Given the description of an element on the screen output the (x, y) to click on. 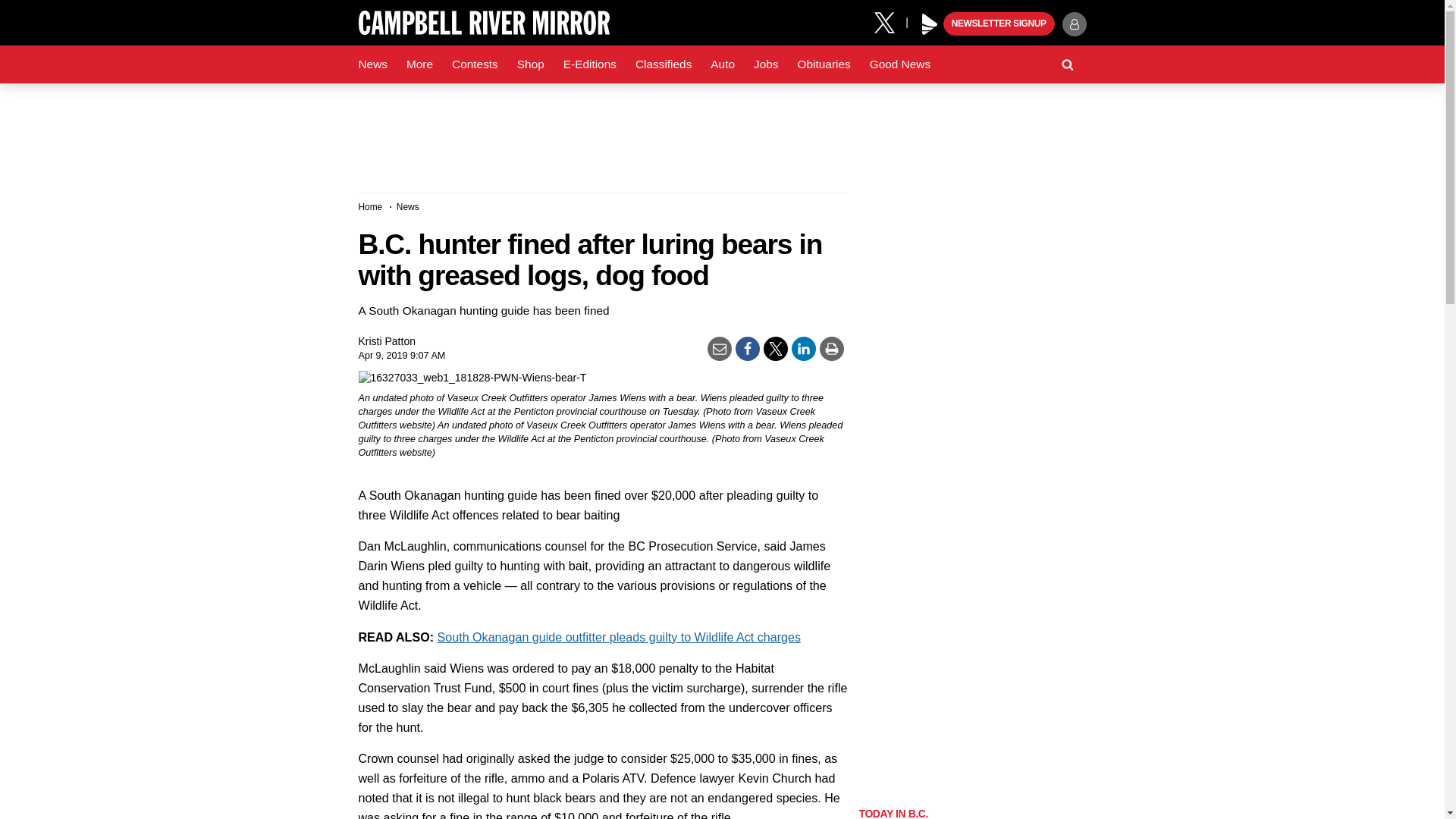
NEWSLETTER SIGNUP (998, 24)
Black Press Media (929, 24)
News (372, 64)
Play (929, 24)
X (889, 21)
